Given the description of an element on the screen output the (x, y) to click on. 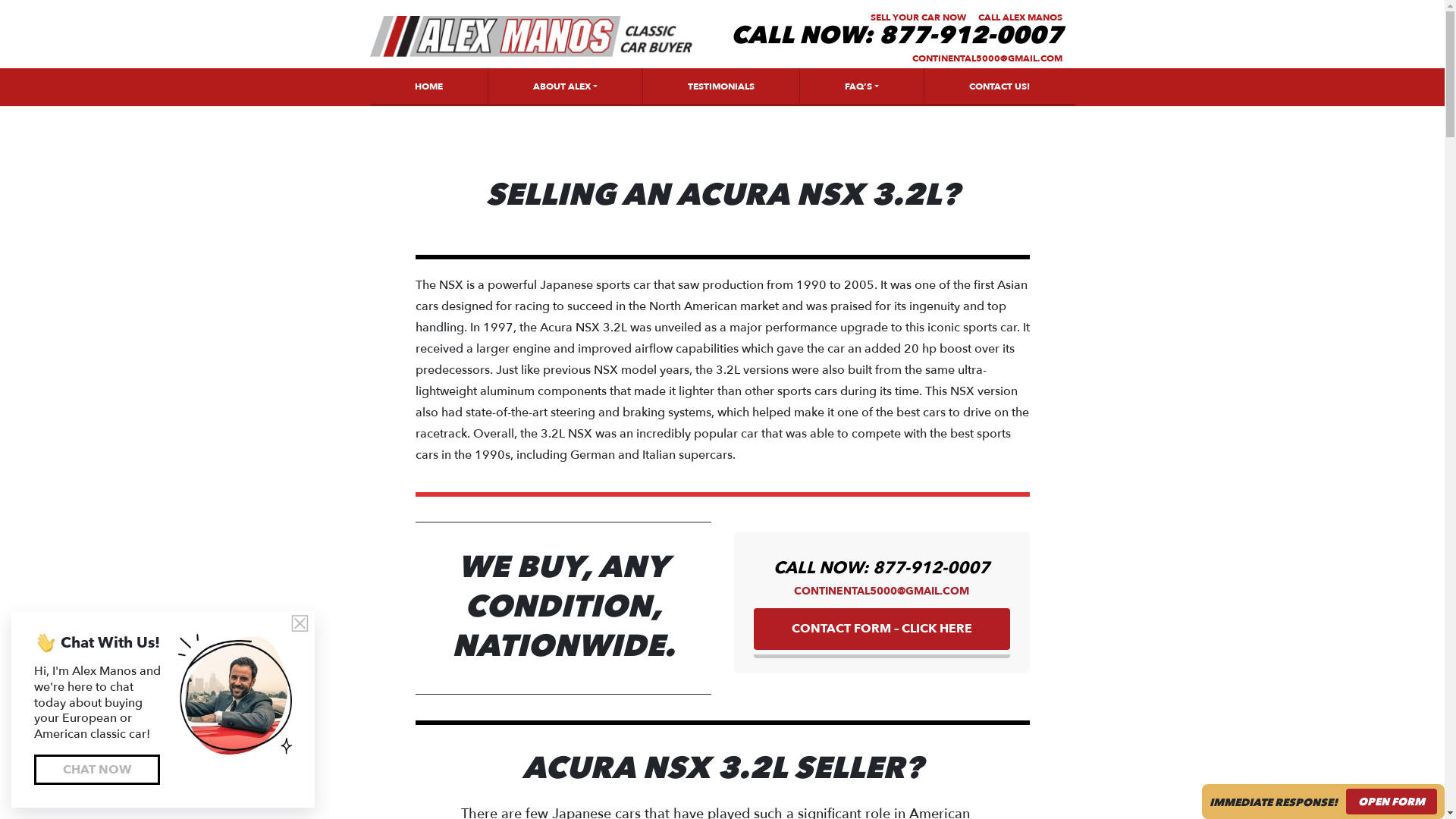
HOME (428, 86)
ABOUT ALEX (564, 86)
TESTIMONIALS (720, 86)
Home (531, 35)
Testimonials (720, 86)
Contact Us! (999, 86)
CONTACT US! (999, 86)
About Alex (564, 86)
Home (428, 86)
CALL NOW: 877-912-0007 (881, 567)
